Given the description of an element on the screen output the (x, y) to click on. 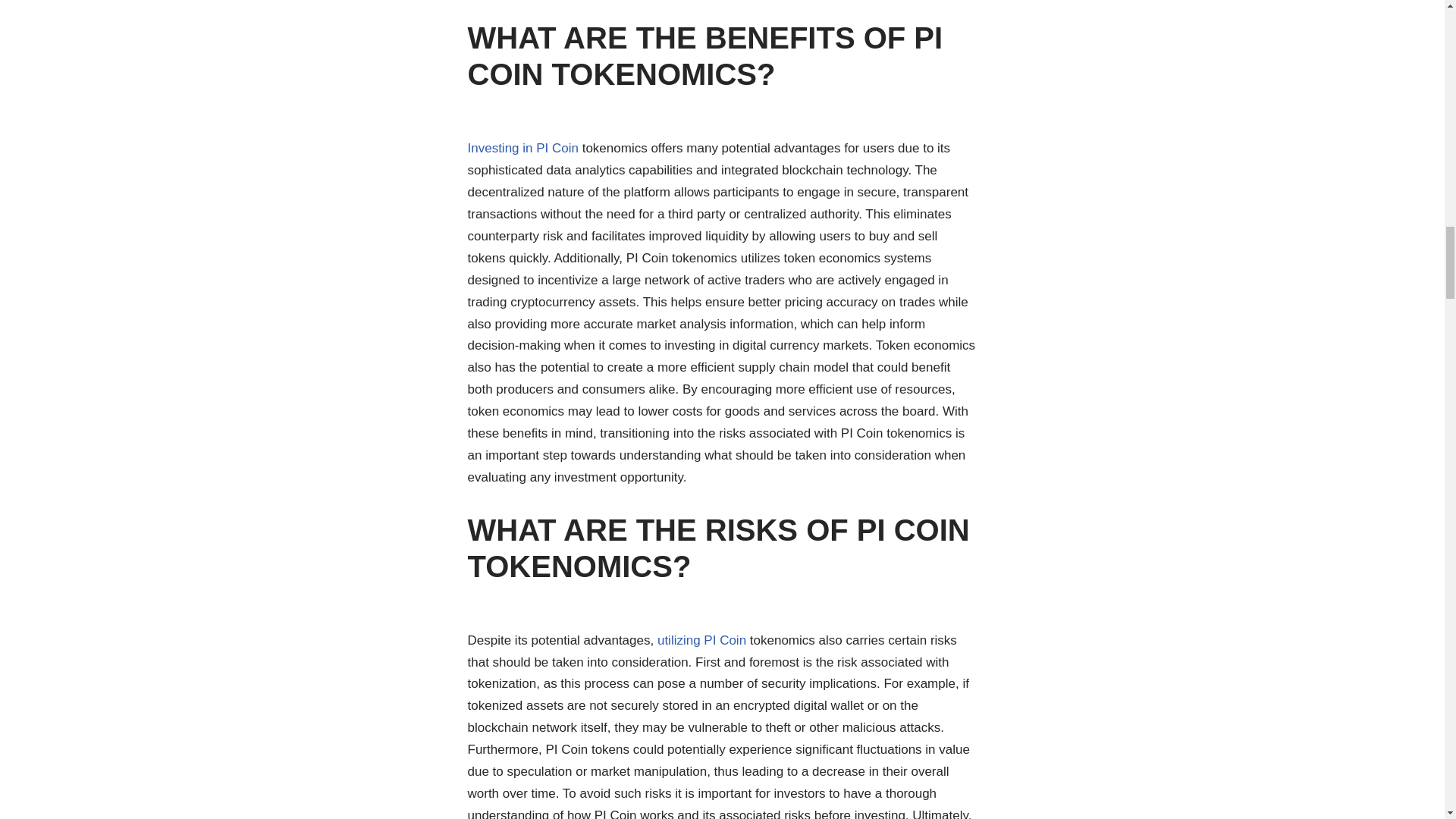
Investing in PI Coin (522, 147)
utilizing PI Coin (701, 640)
utilizing PI Coin (701, 640)
Investing in PI Coin (522, 147)
